Given the description of an element on the screen output the (x, y) to click on. 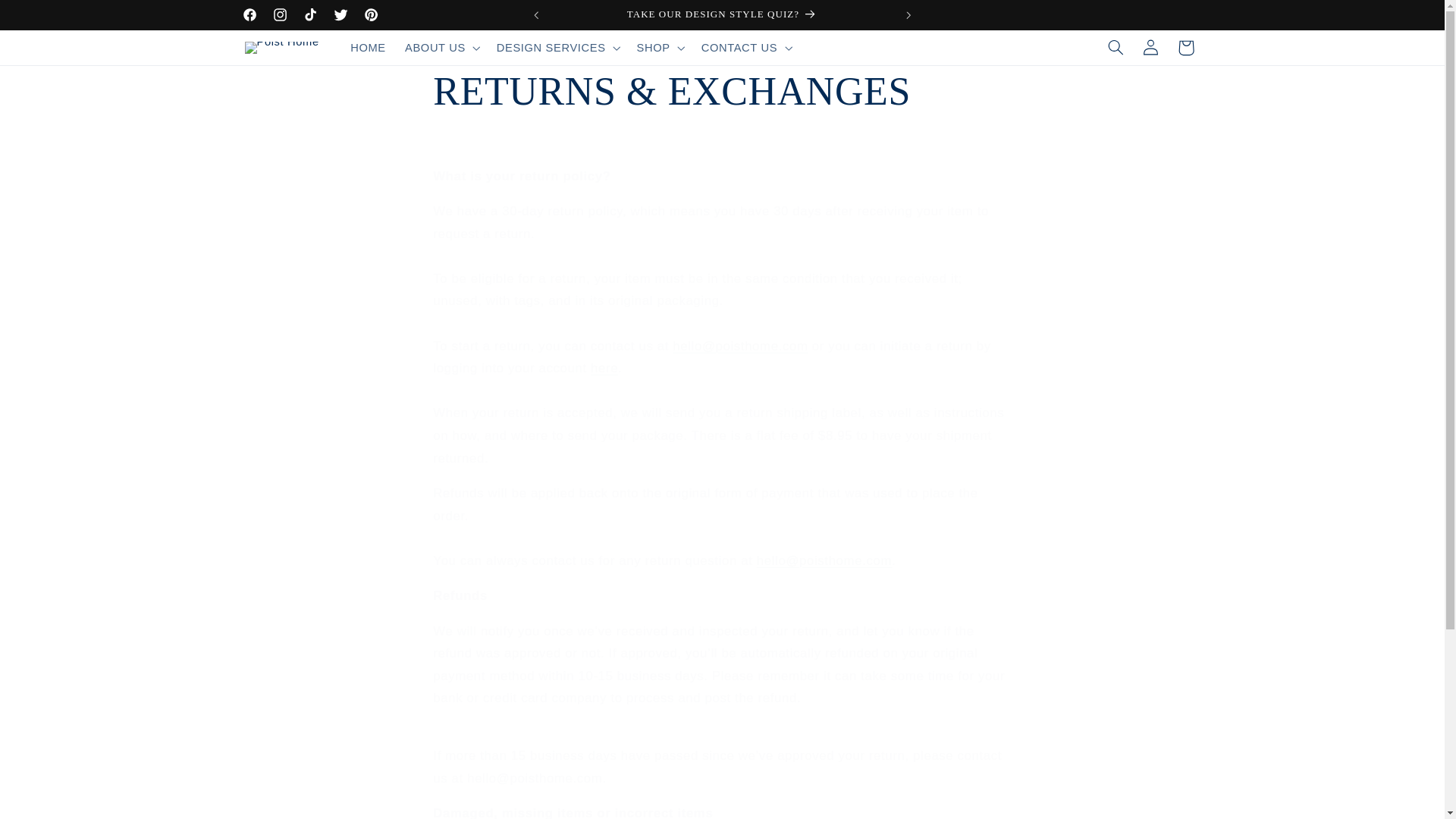
Facebook (249, 15)
Instagram (279, 15)
TAKE OUR DESIGN STYLE QUIZ? (722, 15)
Ir directamente al contenido (48, 18)
Customer Account (604, 368)
TikTok (310, 15)
Twitter (341, 15)
Pinterest (370, 15)
